Given the description of an element on the screen output the (x, y) to click on. 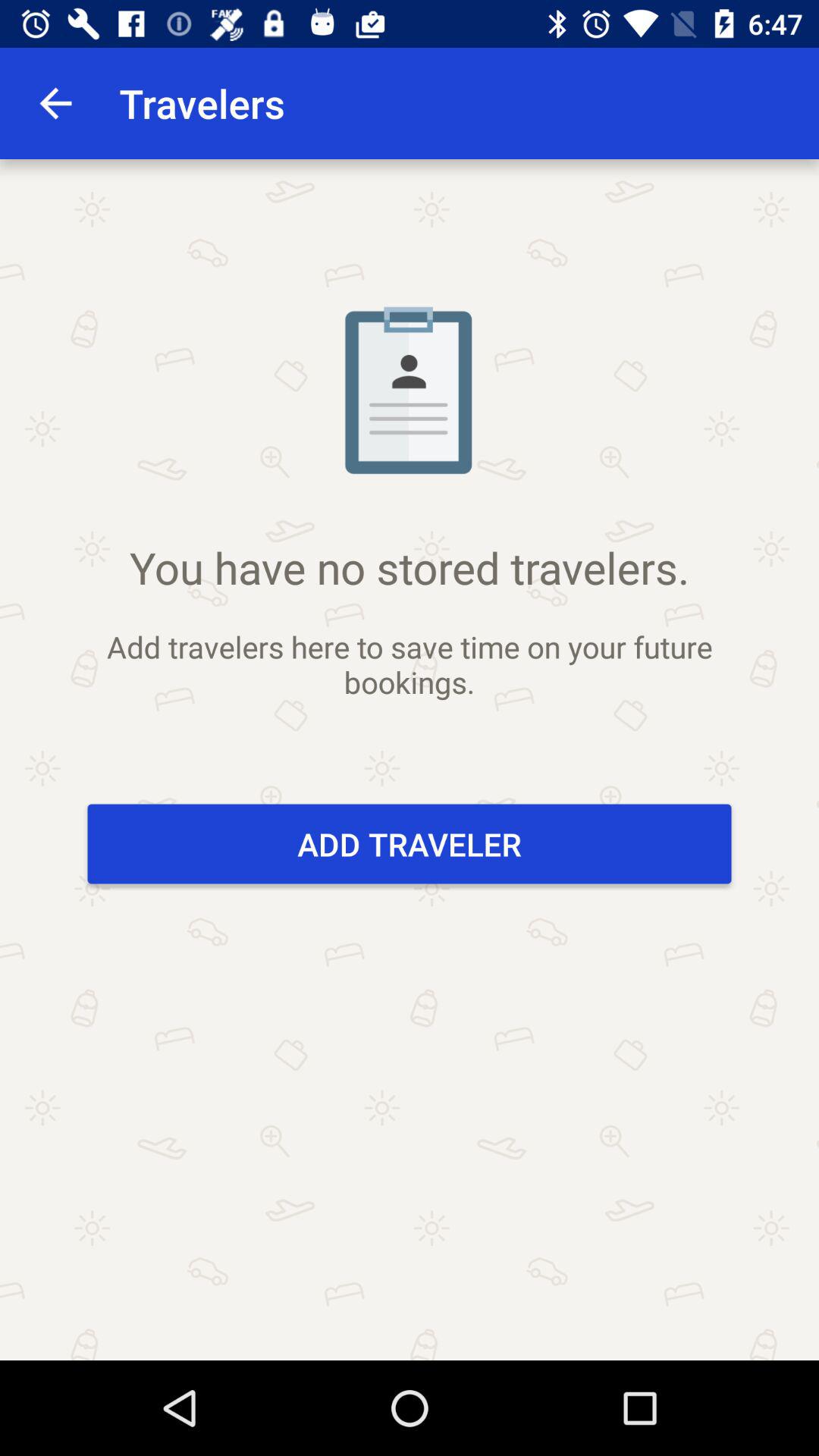
launch the app to the left of travelers app (55, 103)
